Given the description of an element on the screen output the (x, y) to click on. 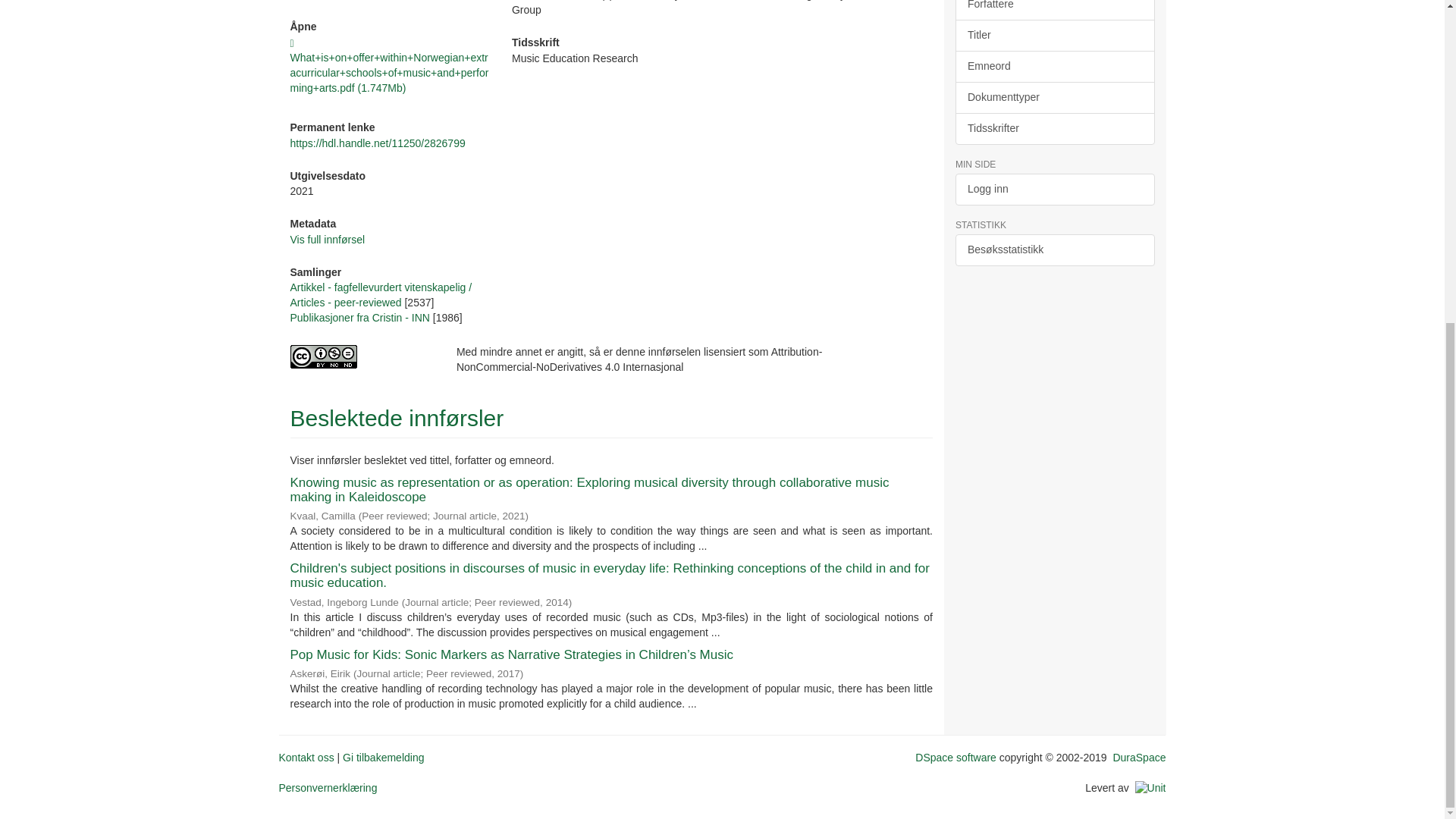
Attribution-NonCommercial-NoDerivatives 4.0 Internasjonal (360, 356)
Unit (1150, 787)
Publikasjoner fra Cristin - INN (359, 317)
